Given the description of an element on the screen output the (x, y) to click on. 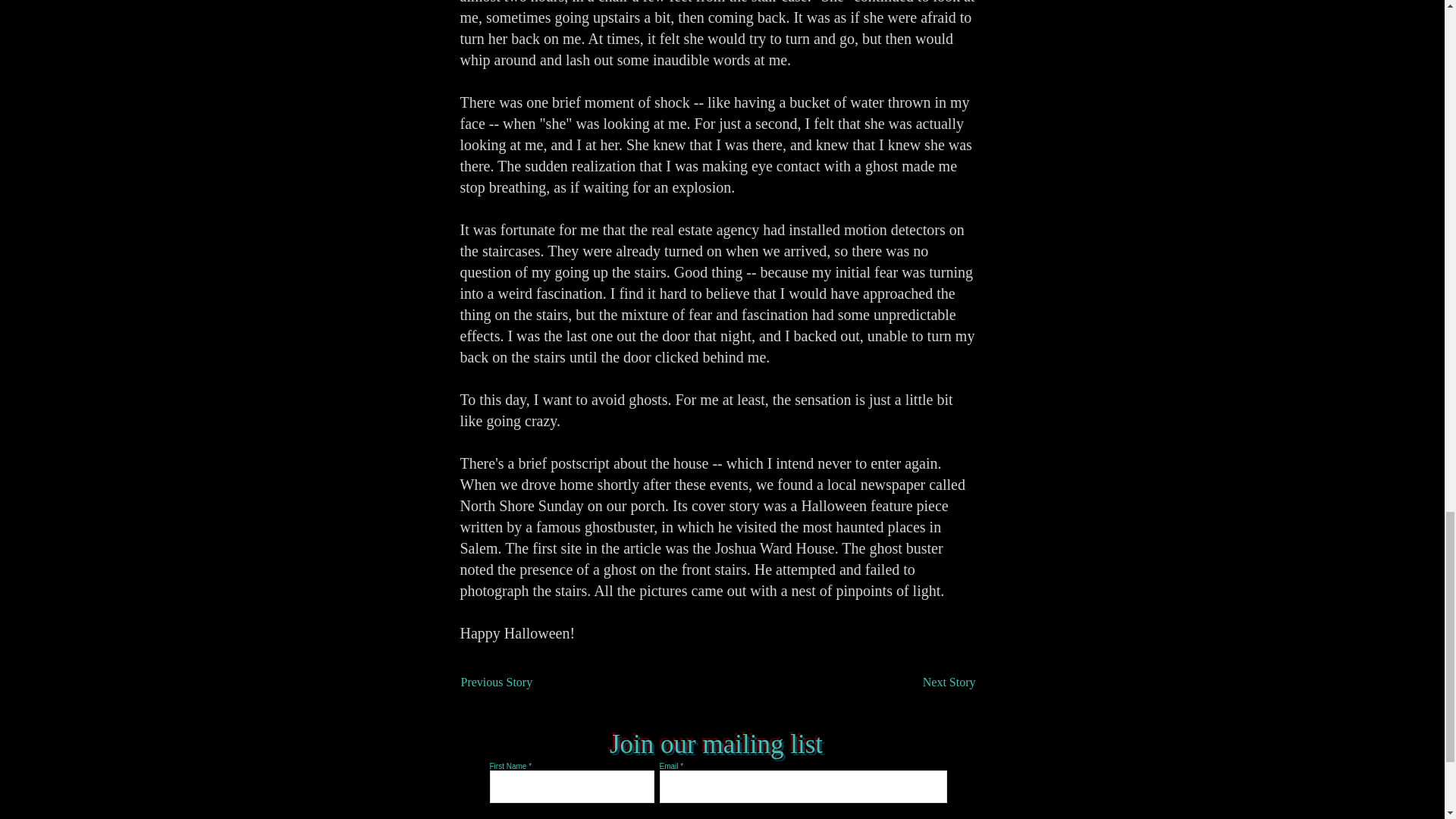
Next Story (937, 682)
Previous Story (510, 682)
Subscribe (717, 813)
